Given the description of an element on the screen output the (x, y) to click on. 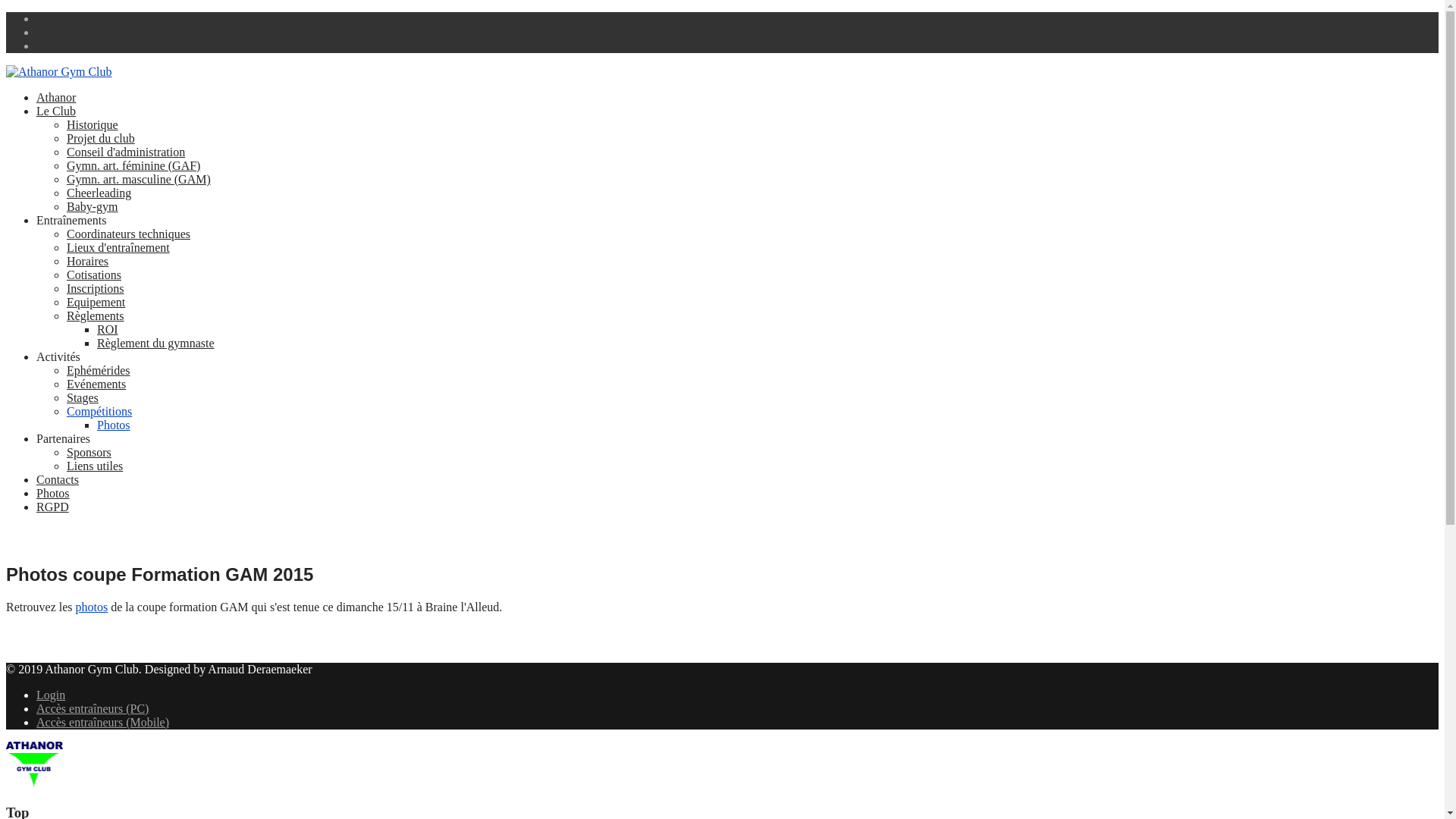
Baby-gym Element type: text (92, 206)
Le Club Element type: text (55, 110)
Athanor Element type: text (55, 97)
Photos Element type: text (113, 424)
Contacts Element type: text (57, 479)
Sponsors Element type: text (88, 451)
Projet du club Element type: text (100, 137)
Liens utiles Element type: text (94, 465)
ROI Element type: text (107, 329)
RGPD Element type: text (52, 506)
Login Element type: text (50, 694)
Coordinateurs techniques Element type: text (128, 233)
Photos Element type: text (52, 492)
Historique Element type: text (92, 124)
Inscriptions Element type: text (95, 288)
Stages Element type: text (82, 397)
Cotisations Element type: text (93, 274)
Cheerleading Element type: text (98, 192)
Horaires Element type: text (87, 260)
Equipement Element type: text (95, 301)
Gymn. art. masculine (GAM) Element type: text (138, 178)
Conseil d'administration Element type: text (125, 151)
photos Element type: text (91, 606)
